Given the description of an element on the screen output the (x, y) to click on. 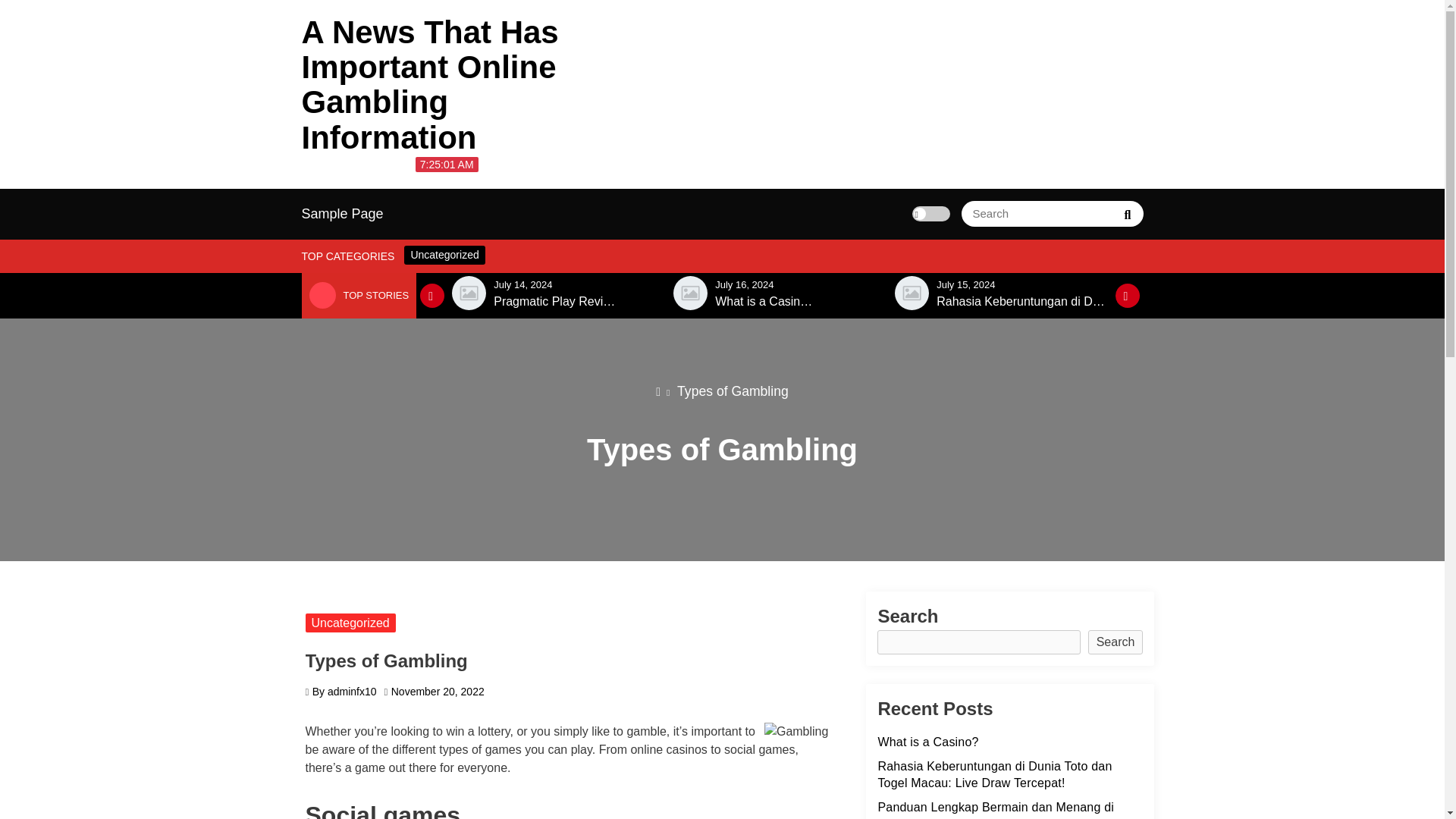
Pragmatic Play Review (555, 301)
July 15, 2024 (965, 284)
Search (1127, 214)
July 14, 2024 (522, 284)
What is a Casino? (763, 301)
July 16, 2024 (743, 284)
A News That Has Important Online Gambling Information (430, 84)
Uncategorized (444, 254)
Sample Page (342, 213)
